Given the description of an element on the screen output the (x, y) to click on. 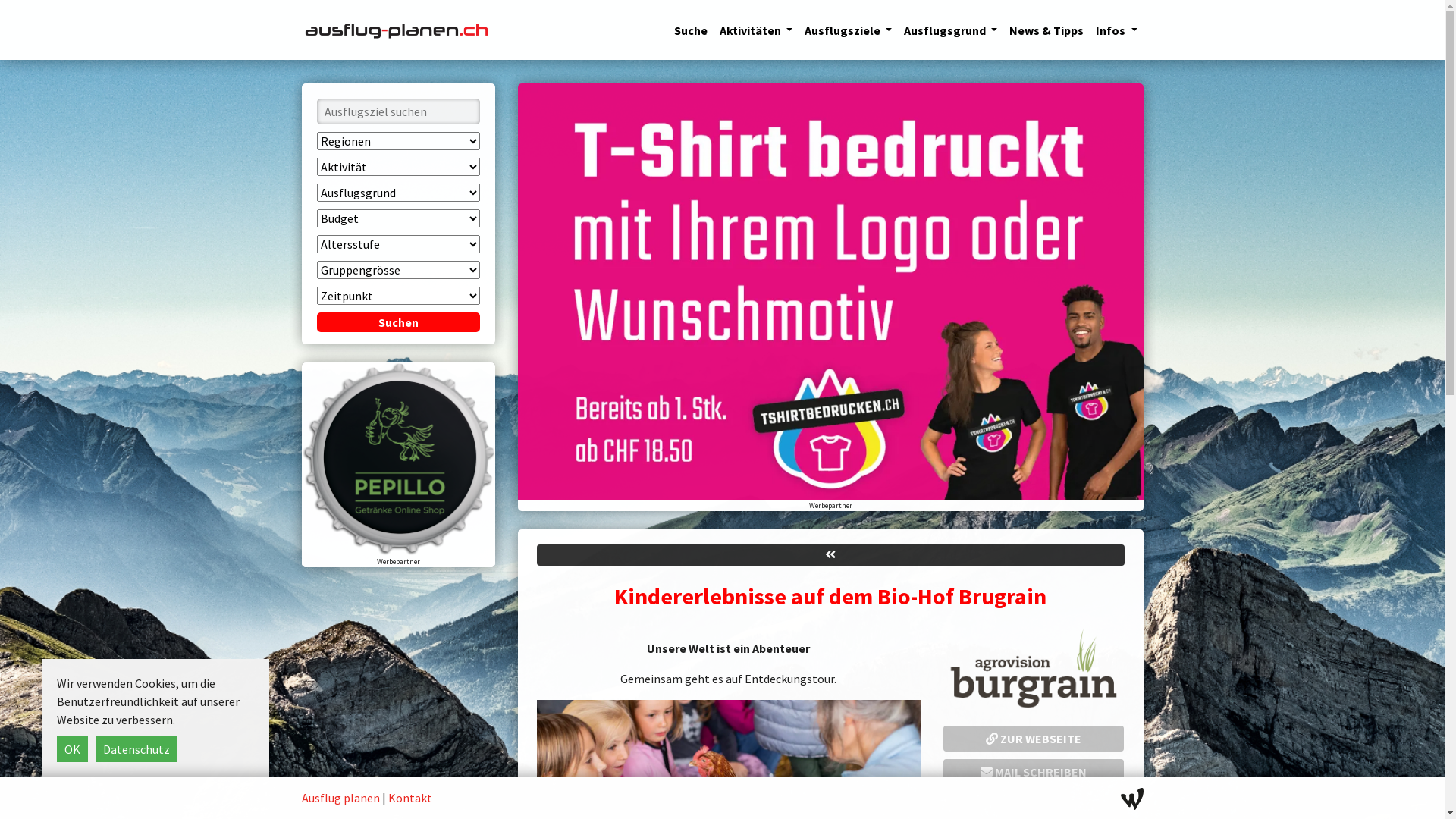
ZUR WEBSEITE Element type: text (1033, 738)
Datenschutz Element type: text (136, 749)
T Shirt bedrucken lassen Element type: hover (829, 291)
Kontakt Element type: text (410, 797)
Ausflug planen Element type: text (340, 797)
ANRUFEN Element type: text (1033, 805)
News & Tipps Element type: text (1046, 30)
Suche Element type: text (690, 30)
Infos Element type: text (1115, 30)
MAIL SCHREIBEN Element type: text (1033, 771)
Burezmorge im Burgrain in Alberswil Element type: hover (1033, 670)
Ausflugsgrund Element type: text (950, 30)
OK Element type: text (71, 749)
T Shirt bedrucken lassen Element type: hover (829, 290)
Suchen Element type: text (398, 322)
Ausflugsziele Element type: text (847, 30)
